Given the description of an element on the screen output the (x, y) to click on. 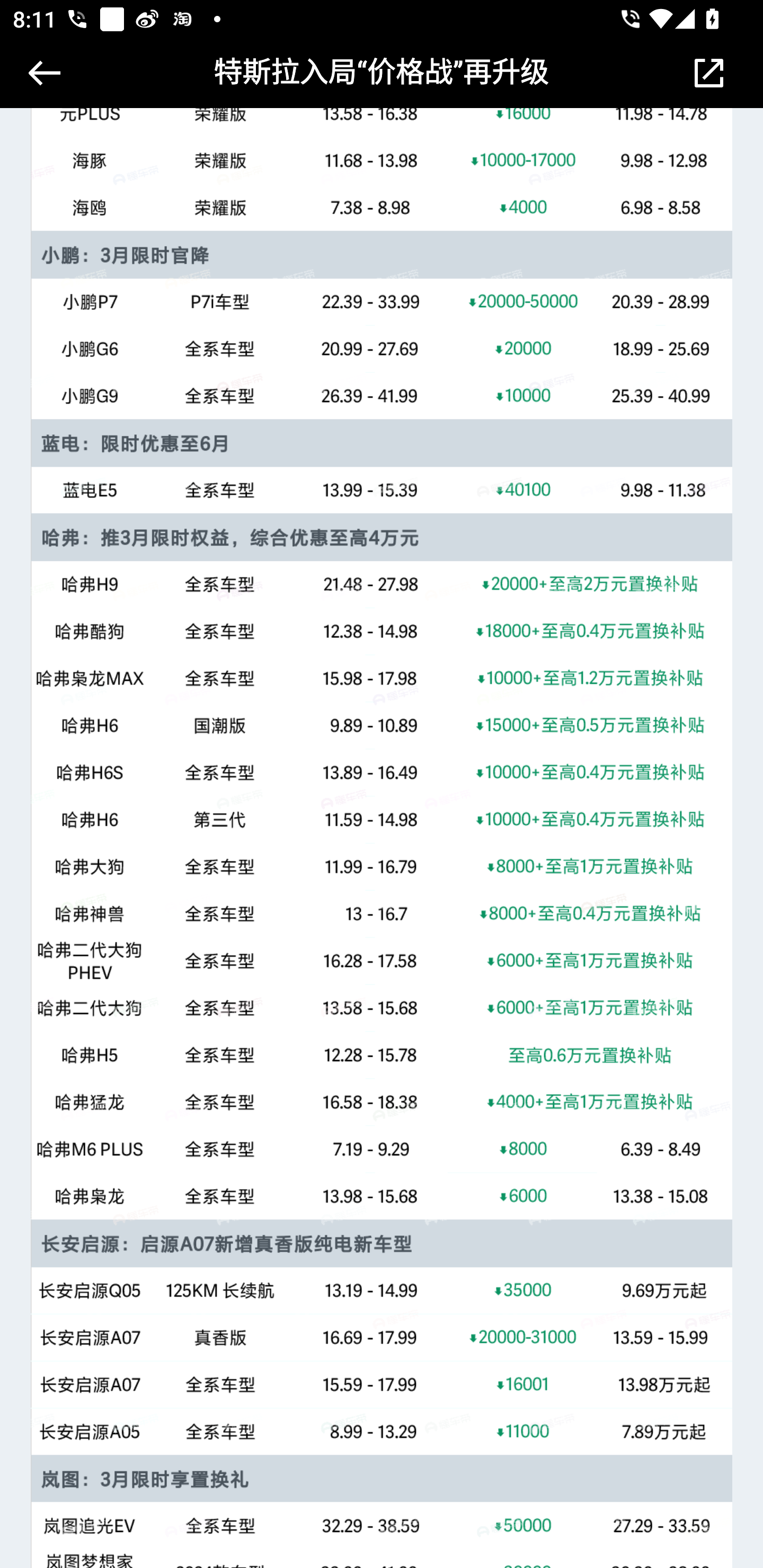
 (41, 72)
特斯拉入局“价格战”再升级 (381, 73)
